Given the description of an element on the screen output the (x, y) to click on. 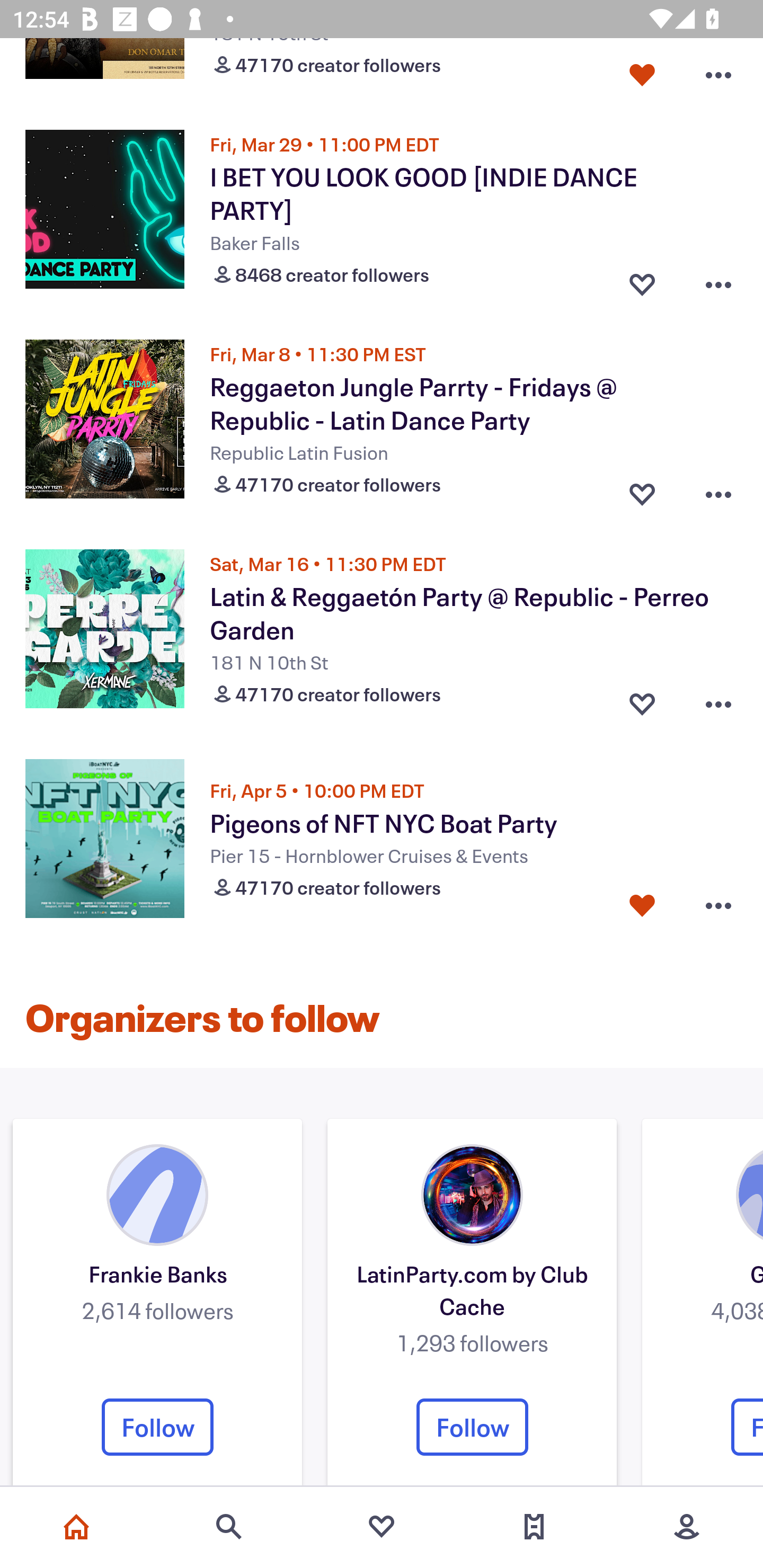
Favorite button (642, 71)
Overflow menu button (718, 71)
Favorite button (642, 279)
Overflow menu button (718, 279)
Favorite button (642, 489)
Overflow menu button (718, 489)
Favorite button (642, 699)
Overflow menu button (718, 699)
Favorite button (642, 905)
Overflow menu button (718, 905)
Follow Organizer's follow button (157, 1426)
Follow Organizer's follow button (471, 1426)
Home (76, 1526)
Search events (228, 1526)
Favorites (381, 1526)
Tickets (533, 1526)
More (686, 1526)
